Given the description of an element on the screen output the (x, y) to click on. 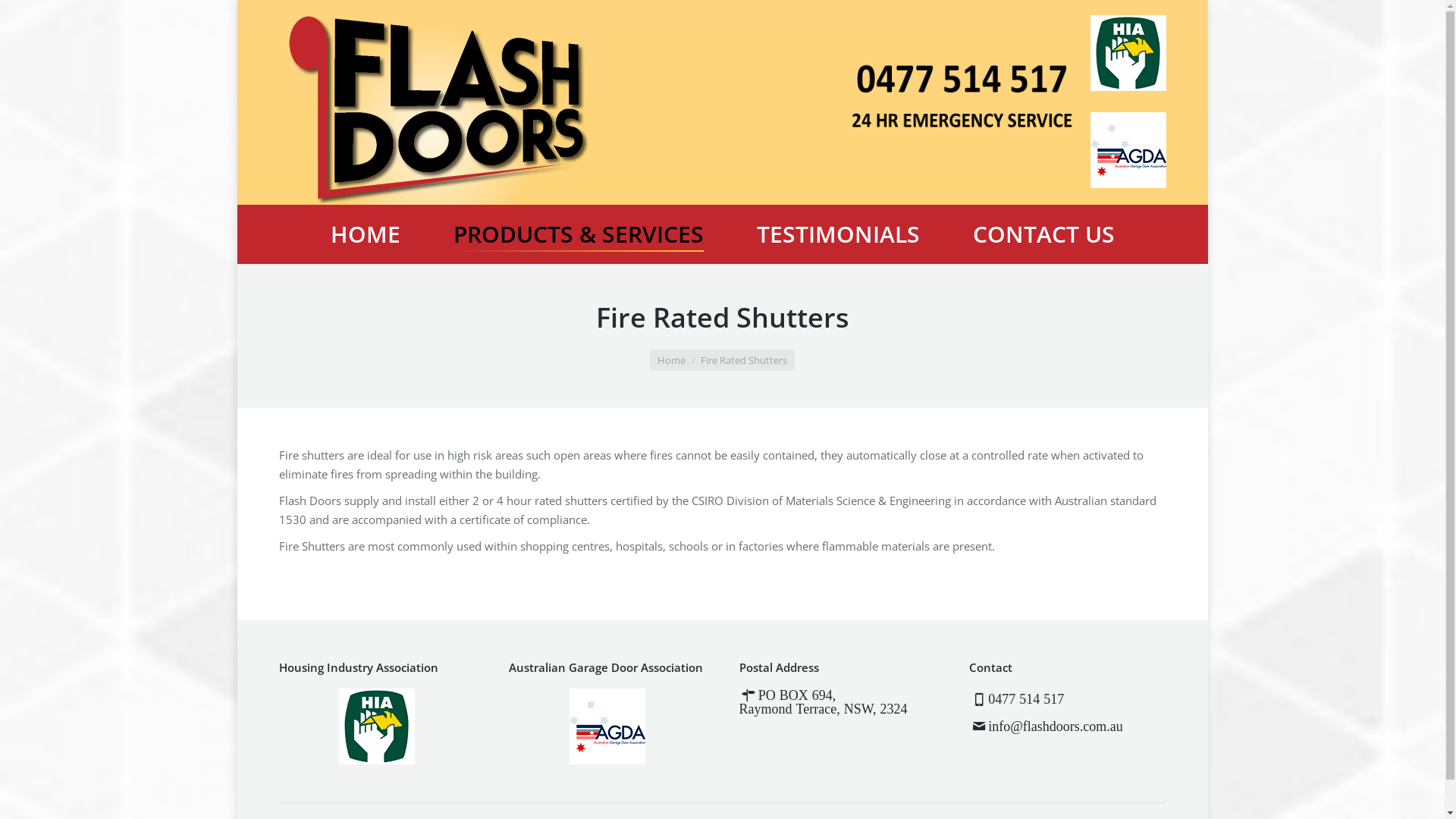
HOME Element type: text (364, 234)
PRODUCTS & SERVICES Element type: text (577, 234)
info@flashdoors.com.au Element type: text (1055, 726)
CONTACT US Element type: text (1043, 234)
Home Element type: text (671, 360)
TESTIMONIALS Element type: text (837, 234)
